Given the description of an element on the screen output the (x, y) to click on. 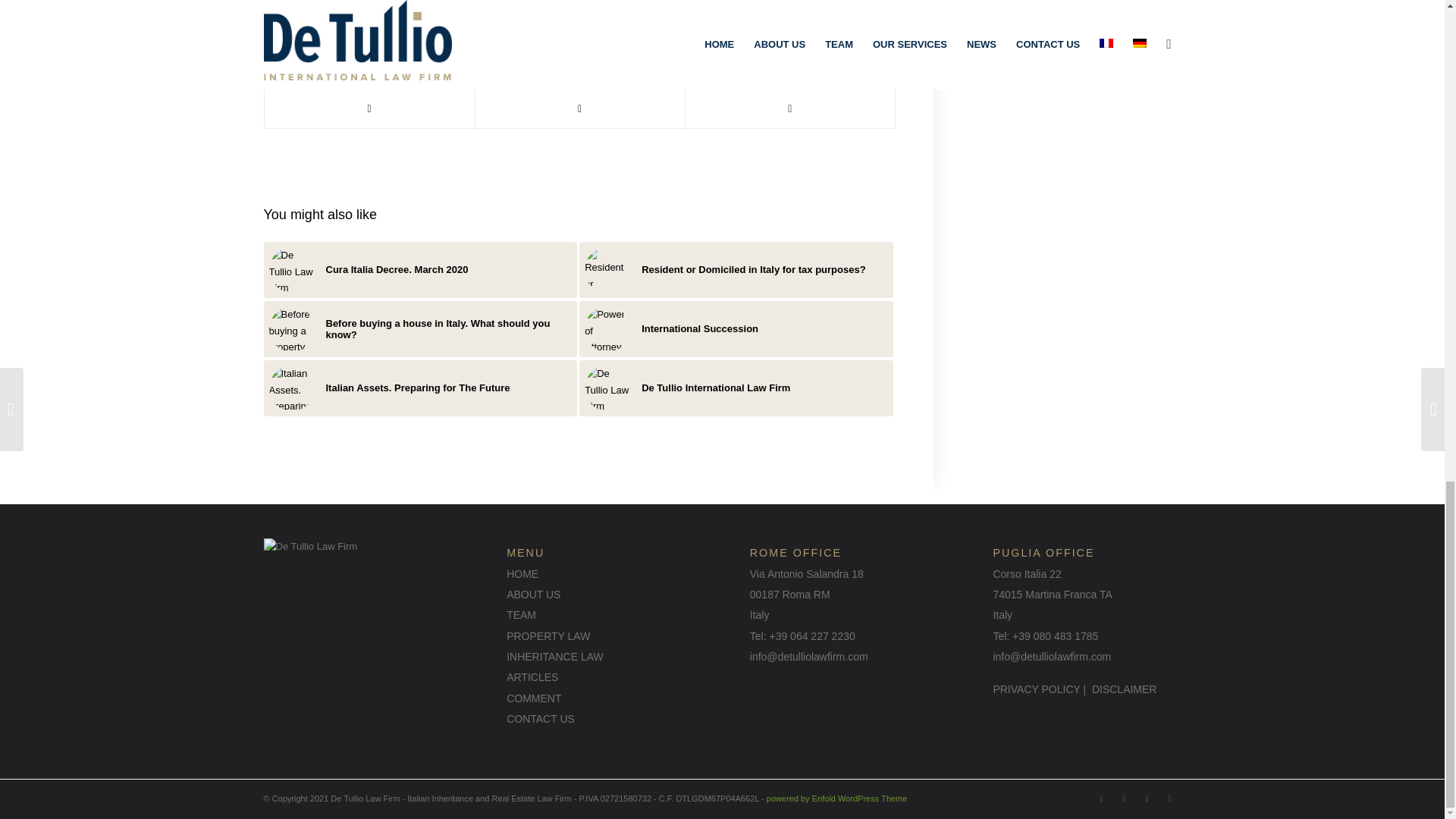
289F35AE-44AE-43BC-982A-48C1737EA2F2 (607, 269)
International Succession (736, 329)
Cura Italia Decree. March 2020 (420, 269)
Cura Italia Decree. March 2020 (420, 269)
HOME (522, 573)
ABOUT US (533, 594)
TEAM (520, 614)
buying (494, 9)
PROPERTY LAW (547, 635)
Before buying a house in Italy. What should you know? (420, 329)
